Given the description of an element on the screen output the (x, y) to click on. 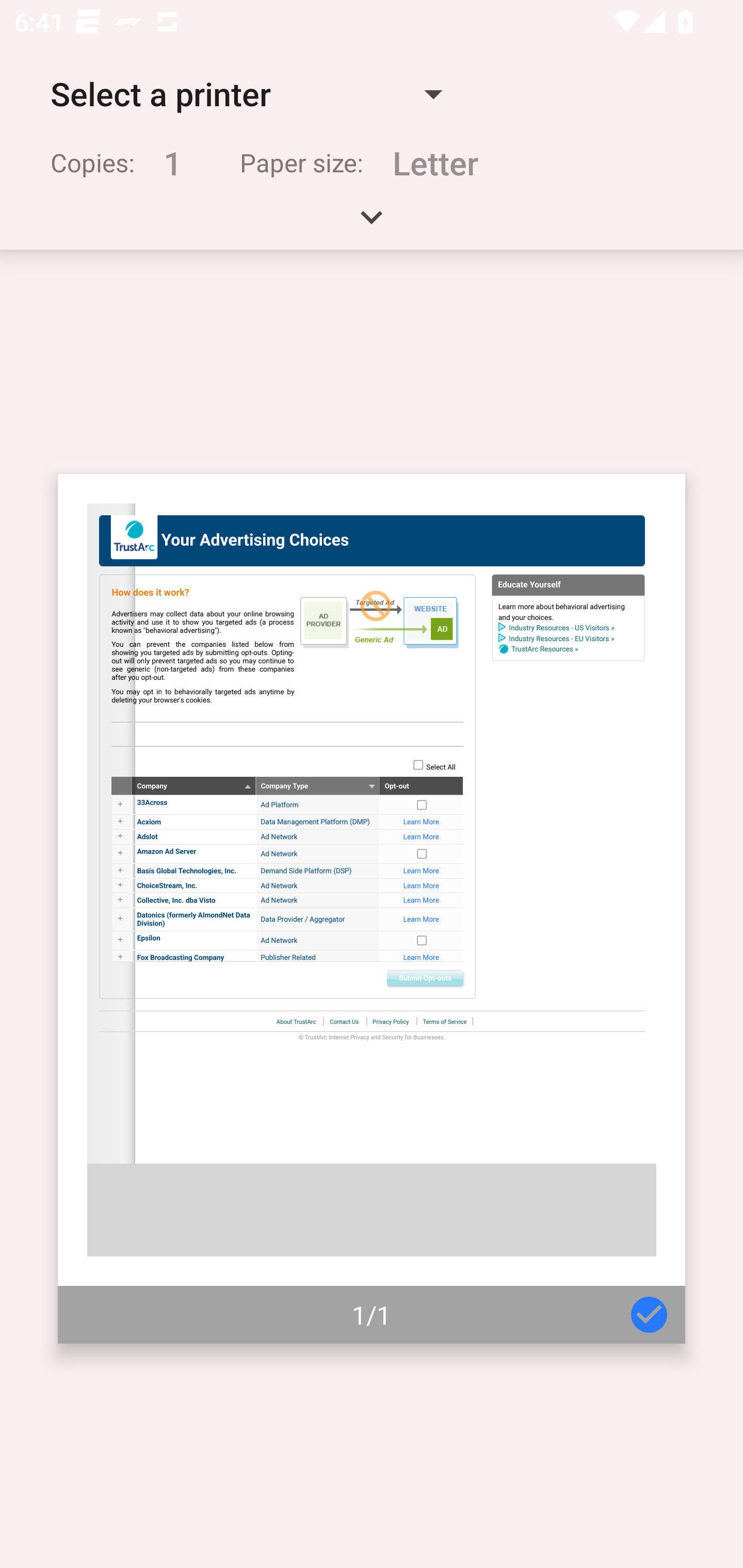
Select a printer (245, 93)
Expand handle (371, 224)
Page 1 of 1 1/1 (371, 908)
